Given the description of an element on the screen output the (x, y) to click on. 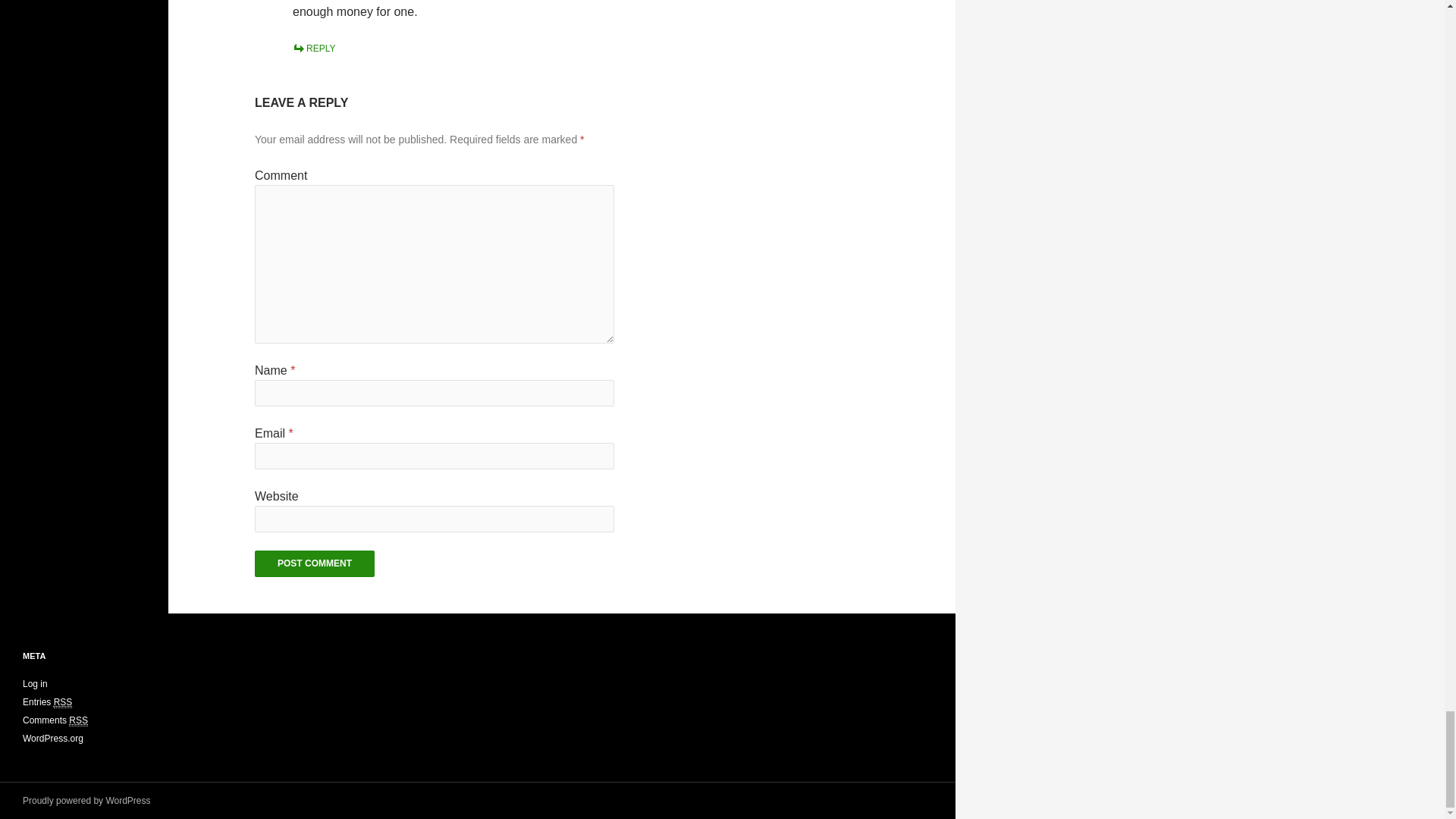
Really Simple Syndication (77, 720)
Really Simple Syndication (62, 702)
Post Comment (314, 563)
